Given the description of an element on the screen output the (x, y) to click on. 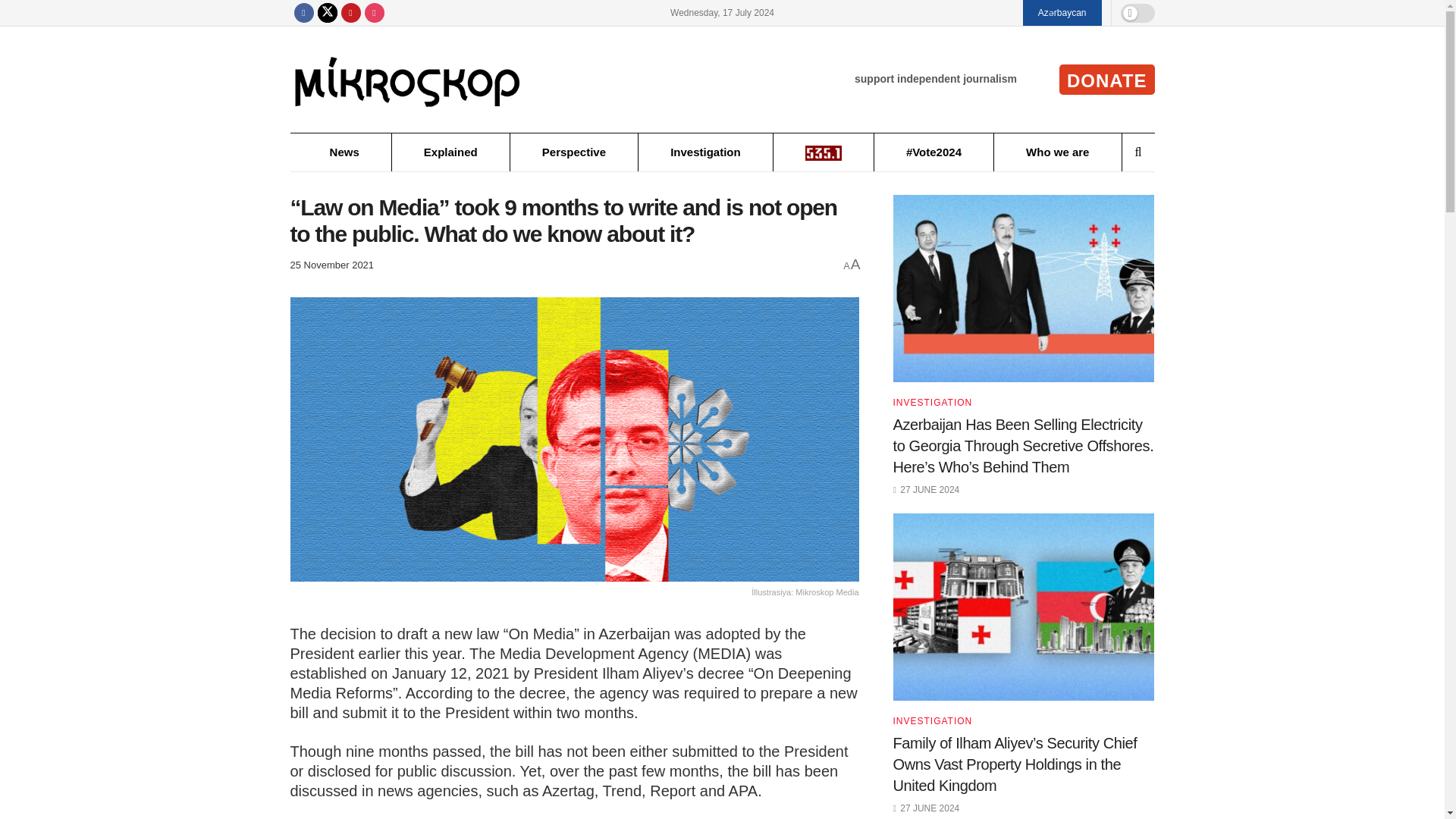
News (344, 151)
Who we are (1057, 151)
Investigation (705, 151)
Perspective (573, 151)
DONATE (1106, 79)
Explained (450, 151)
25 November 2021 (331, 265)
